Given the description of an element on the screen output the (x, y) to click on. 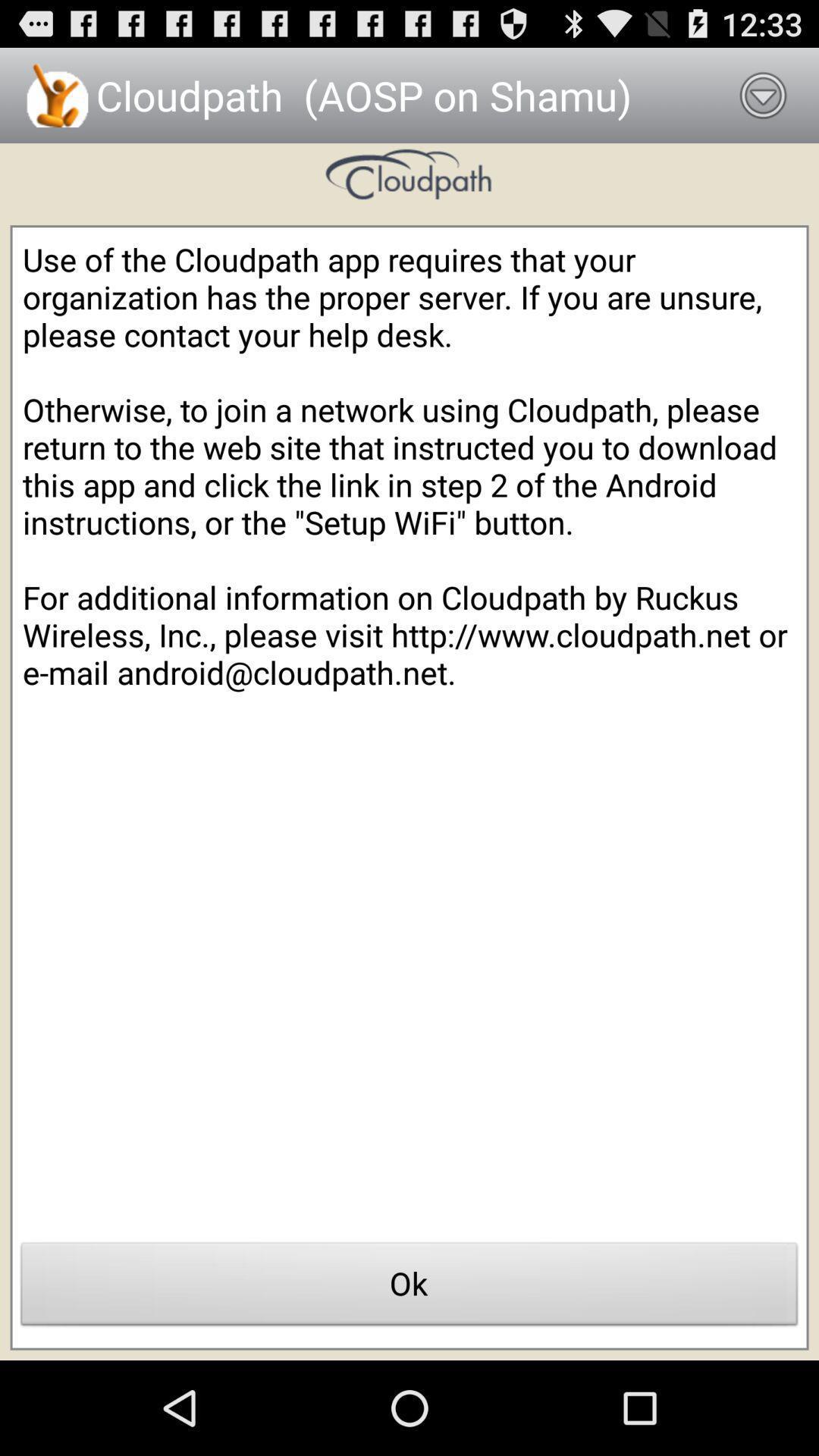
scroll to the ok (409, 1287)
